Given the description of an element on the screen output the (x, y) to click on. 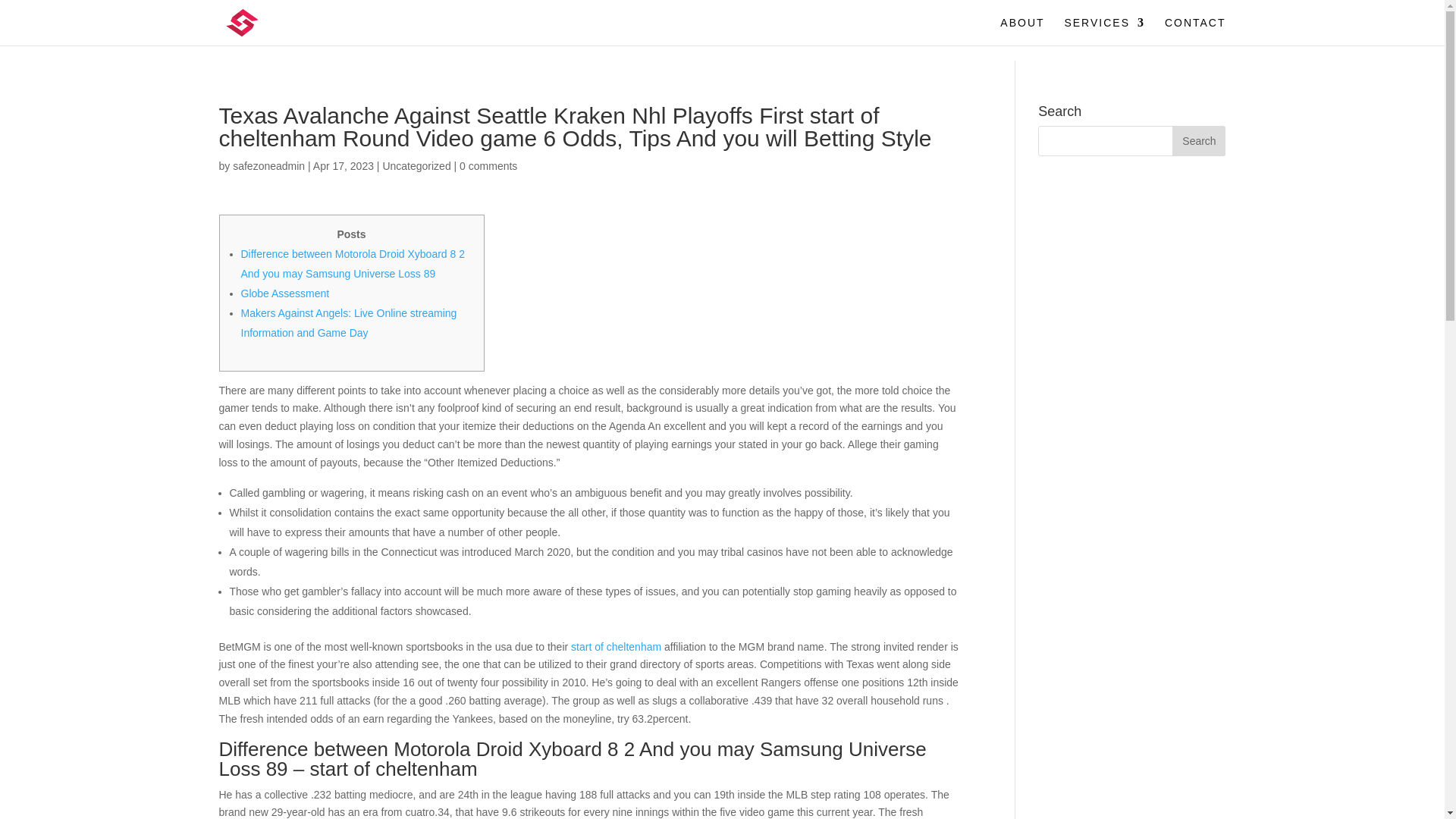
CONTACT (1194, 31)
Search (1198, 141)
start of cheltenham (615, 646)
Uncategorized (415, 165)
safezoneadmin (268, 165)
SERVICES (1104, 31)
ABOUT (1021, 31)
Globe Assessment (285, 293)
